Given the description of an element on the screen output the (x, y) to click on. 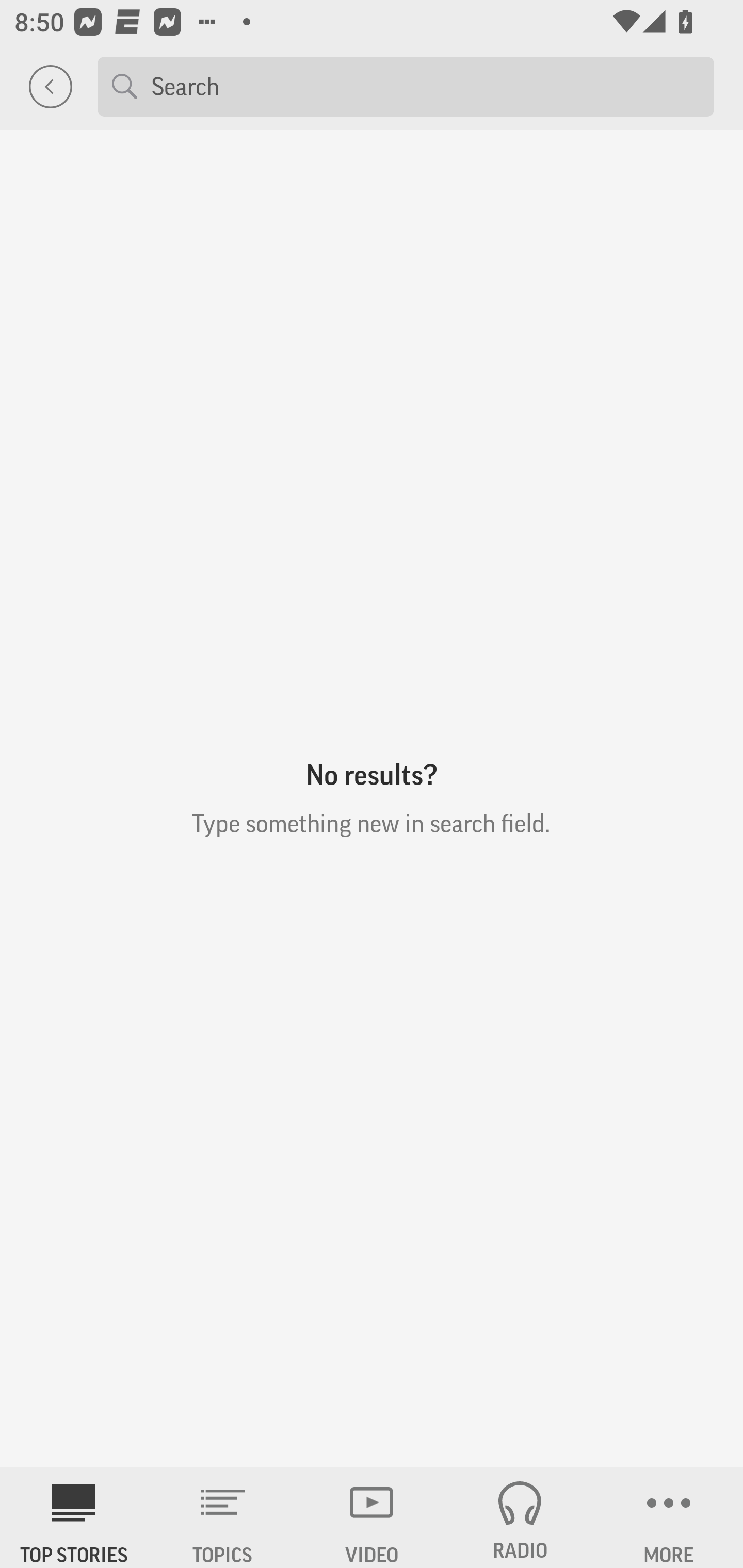
Search (425, 86)
AP News TOP STORIES (74, 1517)
TOPICS (222, 1517)
VIDEO (371, 1517)
RADIO (519, 1517)
MORE (668, 1517)
